Given the description of an element on the screen output the (x, y) to click on. 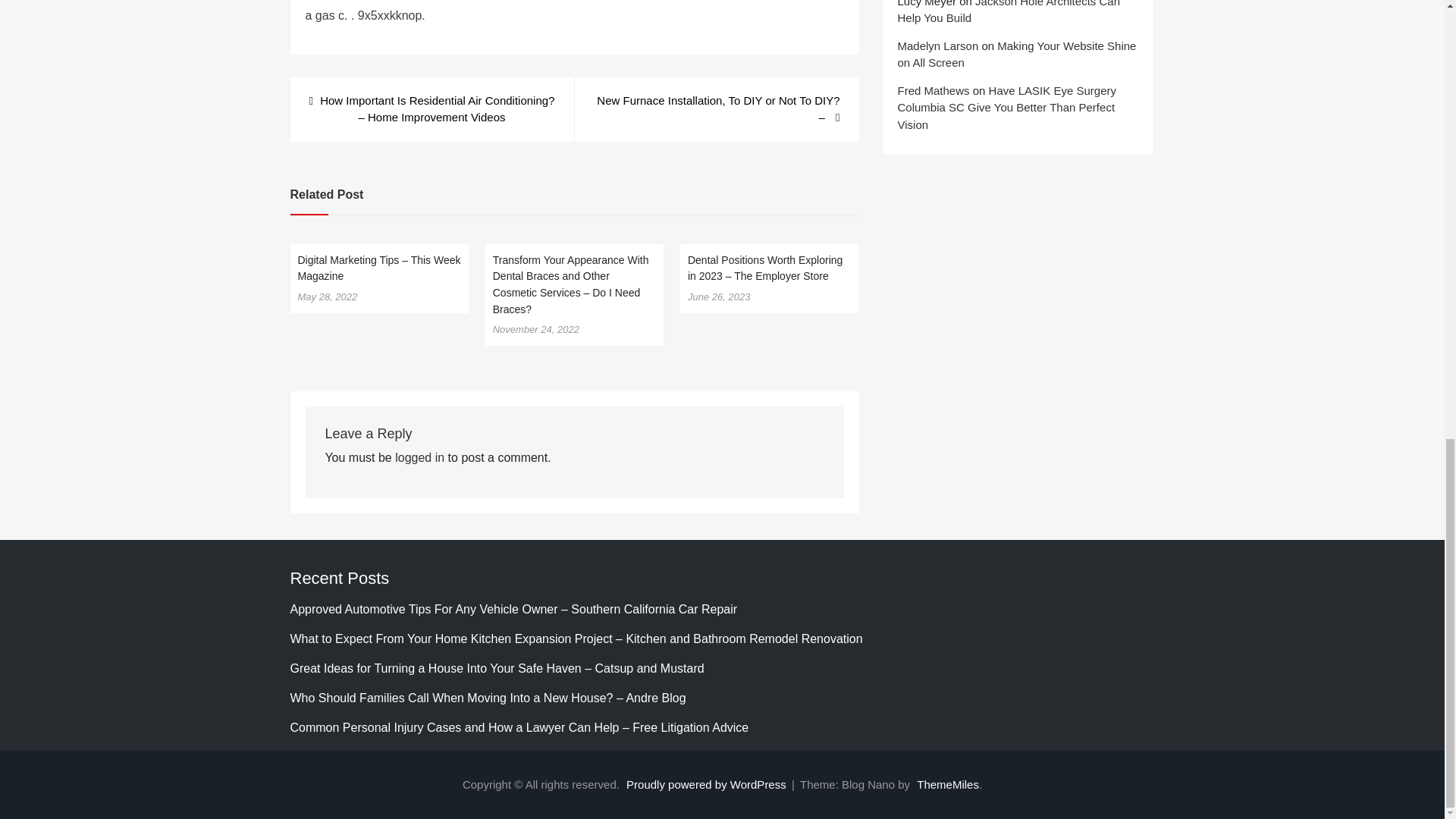
logged in (419, 457)
Making Your Website Shine on All Screen (1017, 54)
Madelyn Larson (938, 45)
Jackson Hole Architects Can Help You Build (1008, 12)
